Given the description of an element on the screen output the (x, y) to click on. 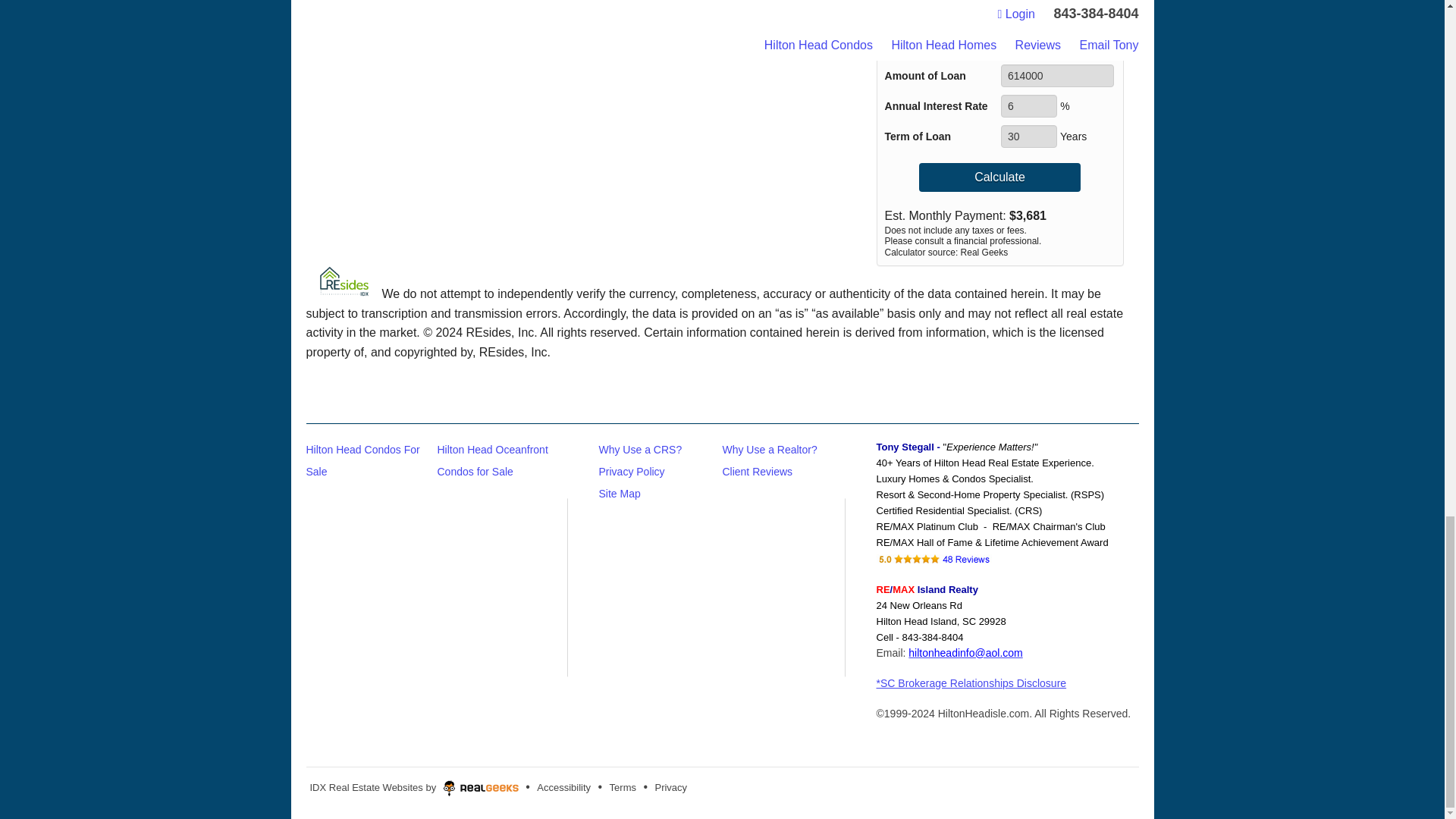
30 (1029, 136)
6 (1029, 106)
E-mail Tony (965, 653)
614000 (1057, 75)
South Carolina Brokerage Relationships Disclosure (971, 683)
